Given the description of an element on the screen output the (x, y) to click on. 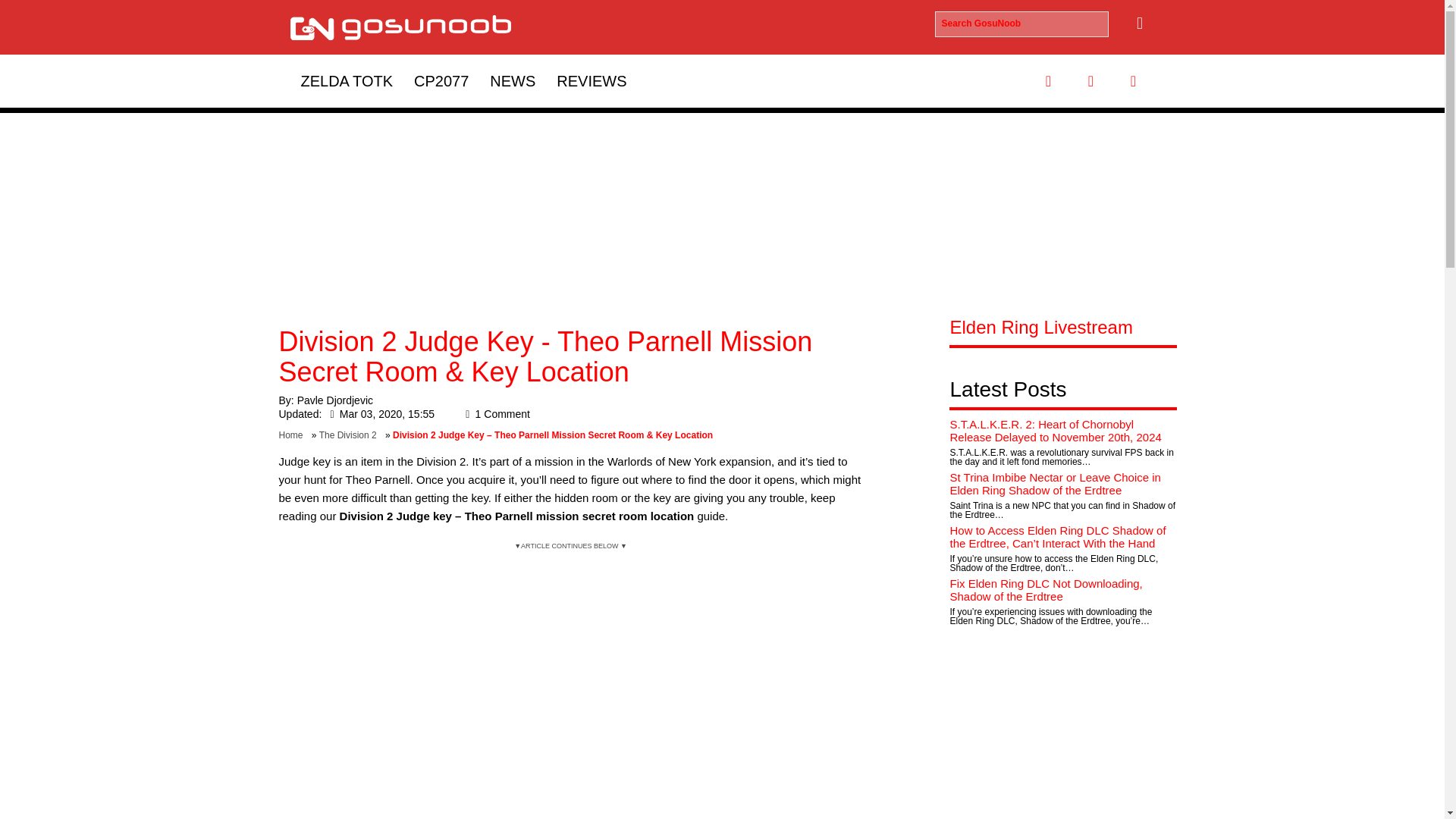
1 Comment (494, 413)
Pavle Djordjevic (334, 399)
Cyberpunk 2077 (441, 80)
Fix Elden Ring DLC Not Downloading, Shadow of the Erdtree (1045, 589)
NEWS (512, 80)
The Division 2 (350, 434)
CP2077 (441, 80)
ZELDA TOTK (346, 80)
Home (293, 434)
REVIEWS (591, 80)
Fix Elden Ring DLC Not Downloading, Shadow of the Erdtree (1045, 589)
